Given the description of an element on the screen output the (x, y) to click on. 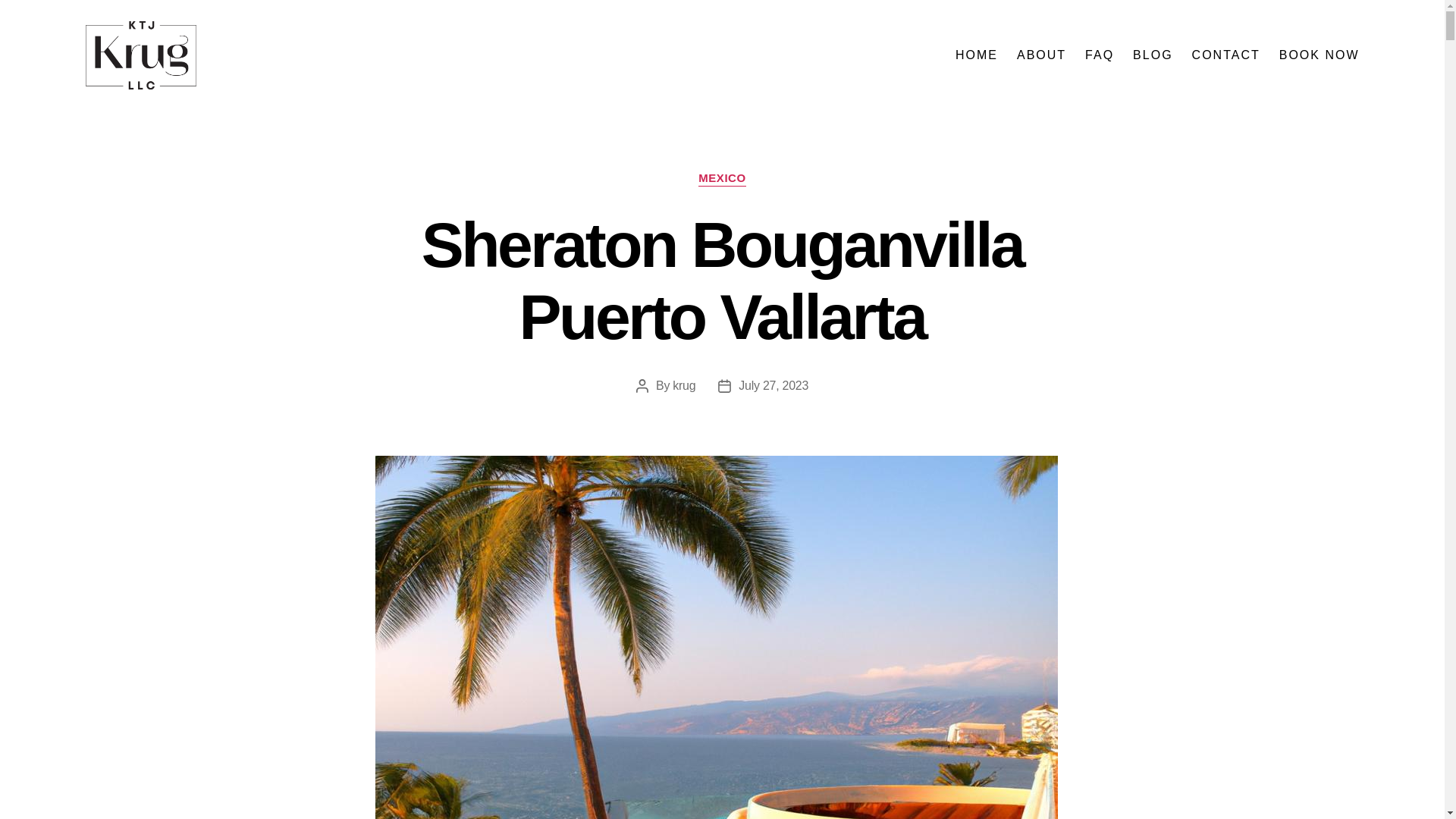
BOOK NOW (1319, 54)
MEXICO (721, 178)
ABOUT (1040, 54)
CONTACT (1226, 54)
July 27, 2023 (773, 385)
BLOG (1152, 54)
FAQ (1098, 54)
HOME (976, 54)
krug (683, 385)
